Given the description of an element on the screen output the (x, y) to click on. 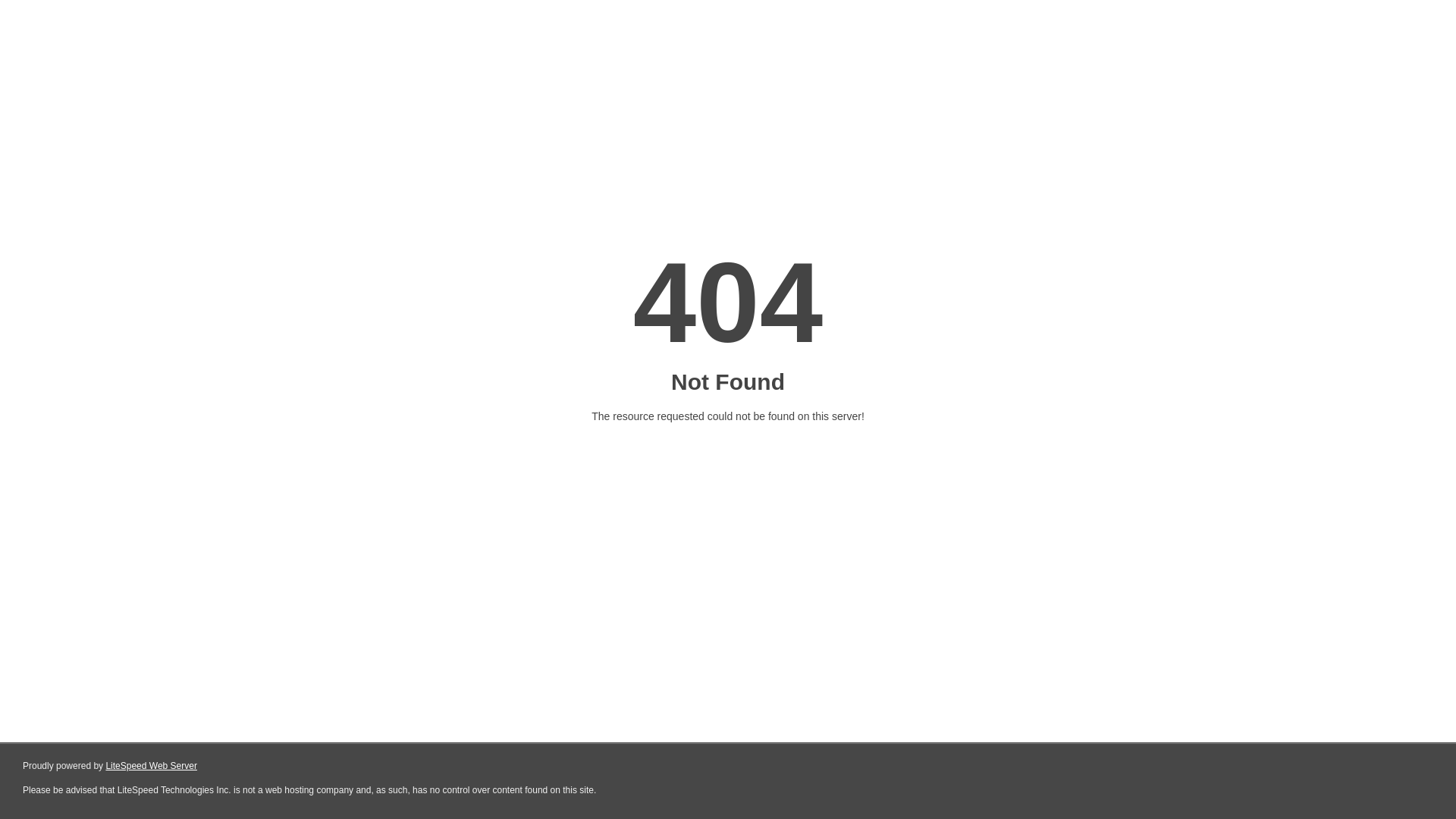
LiteSpeed Web Server Element type: text (151, 765)
